Given the description of an element on the screen output the (x, y) to click on. 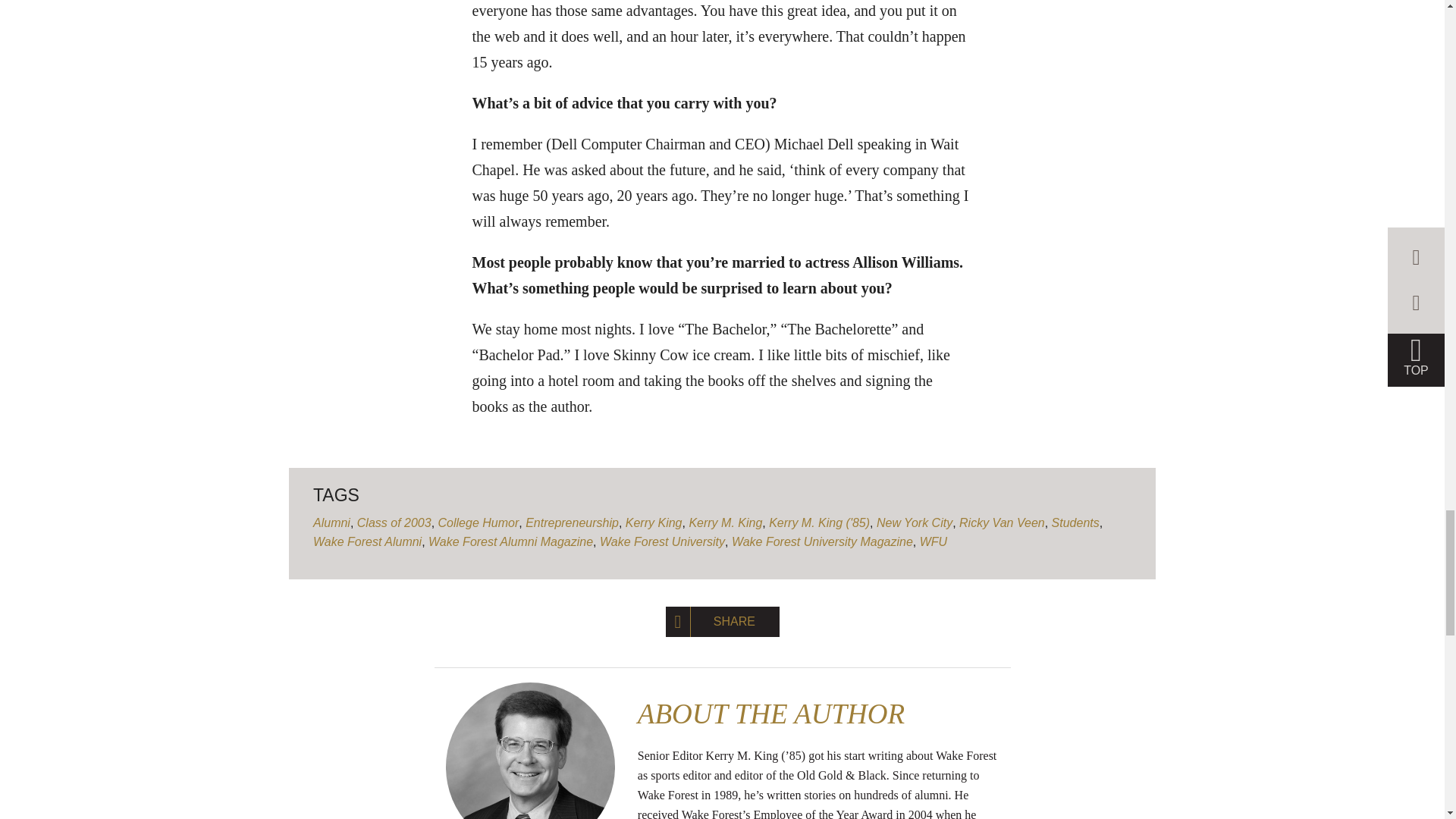
Entrepreneurship (571, 522)
College Humor (478, 522)
Students (1075, 522)
Wake Forest Alumni (367, 541)
Wake Forest Alumni Magazine (510, 541)
New York City (914, 522)
Ricky Van Veen (1002, 522)
Wake Forest University Magazine (822, 541)
Kerry M. King (724, 522)
WFU (933, 541)
